Given the description of an element on the screen output the (x, y) to click on. 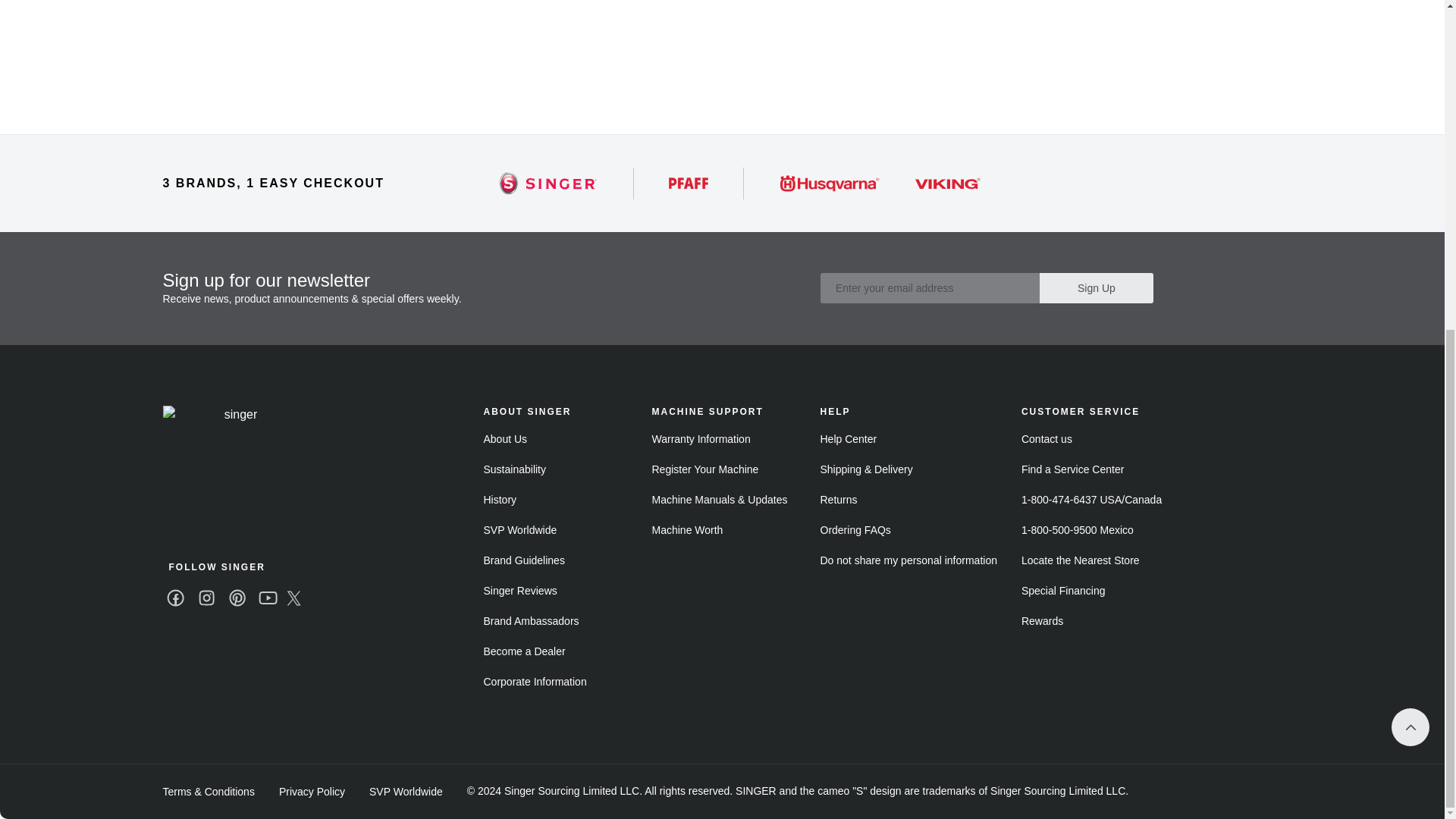
Singer (547, 183)
PFAFF (688, 183)
Home - singer (233, 428)
HV (879, 183)
